Given the description of an element on the screen output the (x, y) to click on. 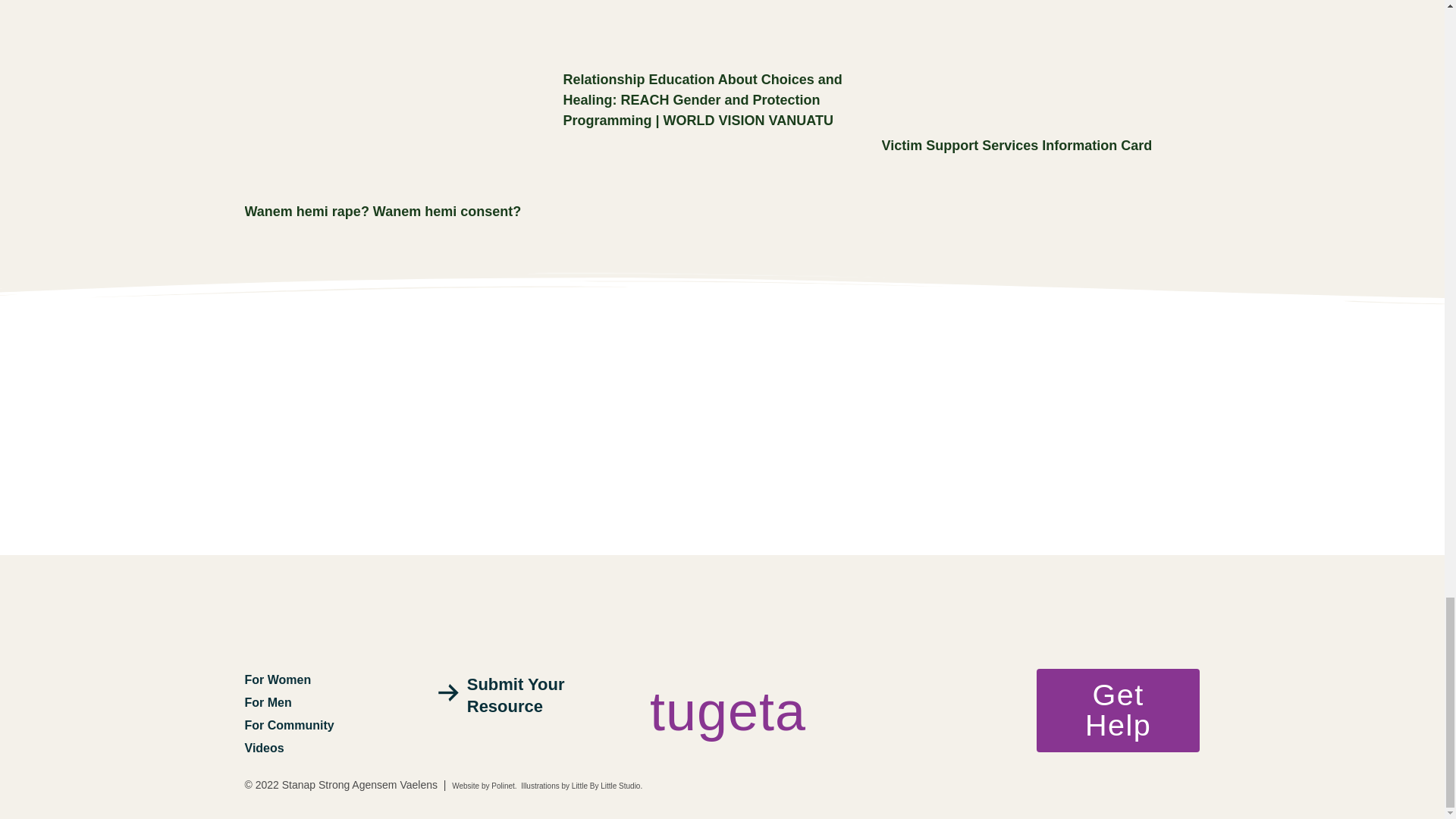
Submit Your Resource (516, 695)
